Given the description of an element on the screen output the (x, y) to click on. 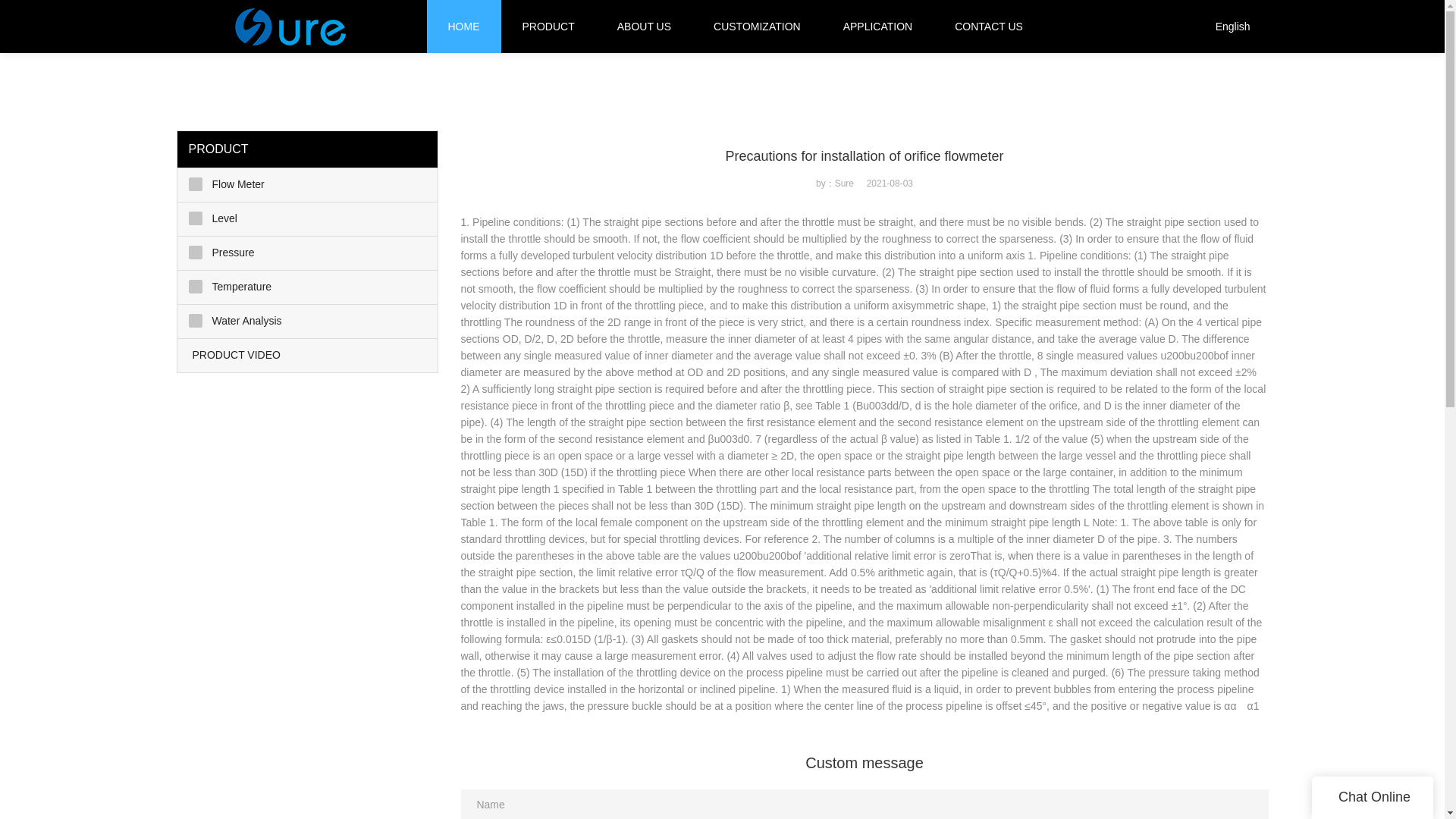
HOME (462, 26)
CONTACT US (989, 26)
APPLICATION (877, 26)
English  (1234, 26)
ABOUT US (644, 26)
PRODUCT (547, 26)
CUSTOMIZATION (756, 26)
